Given the description of an element on the screen output the (x, y) to click on. 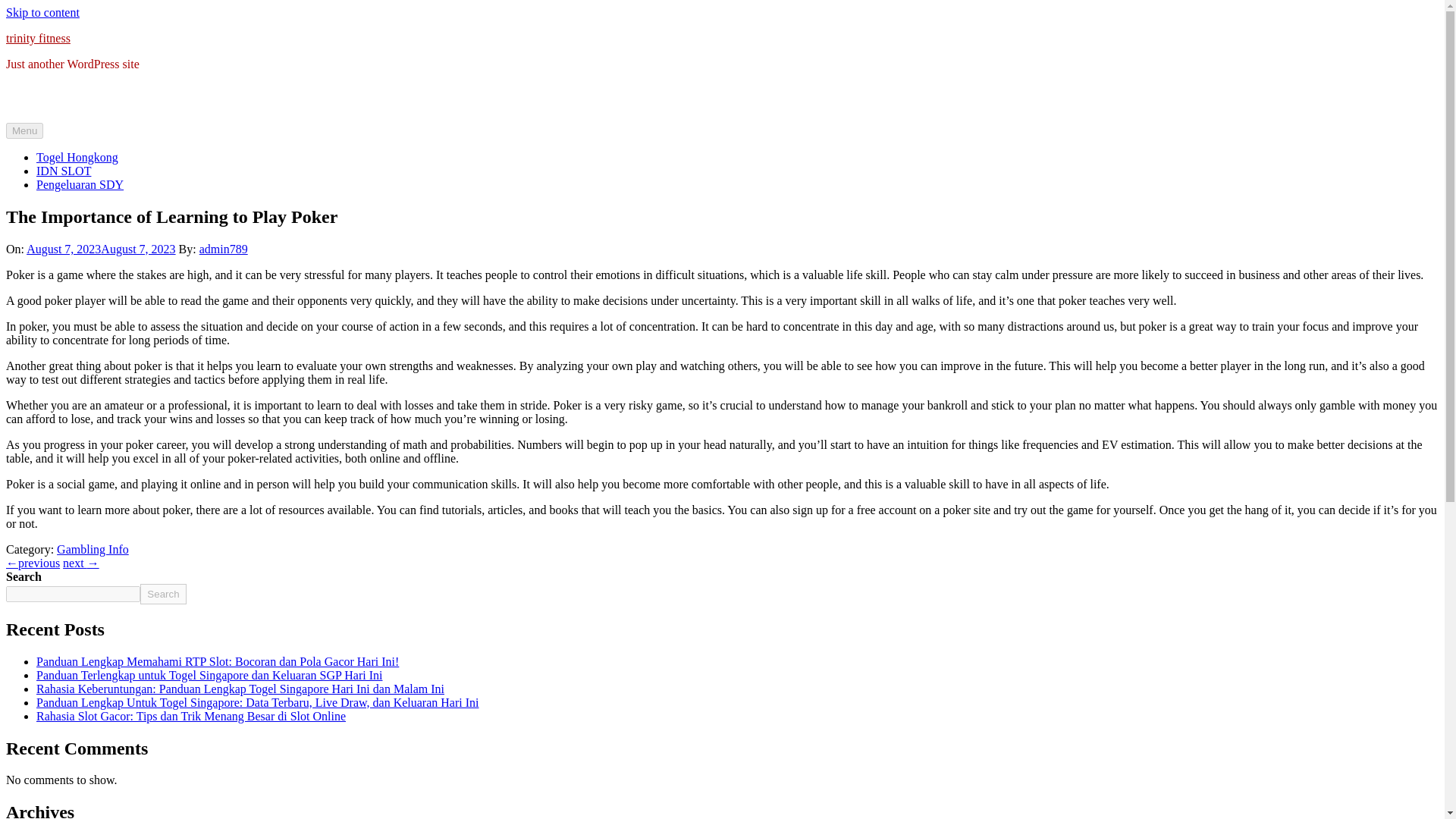
Pengeluaran SDY (79, 184)
Menu (24, 130)
IDN SLOT (63, 170)
August 7, 2023August 7, 2023 (100, 248)
Skip to content (42, 11)
